Given the description of an element on the screen output the (x, y) to click on. 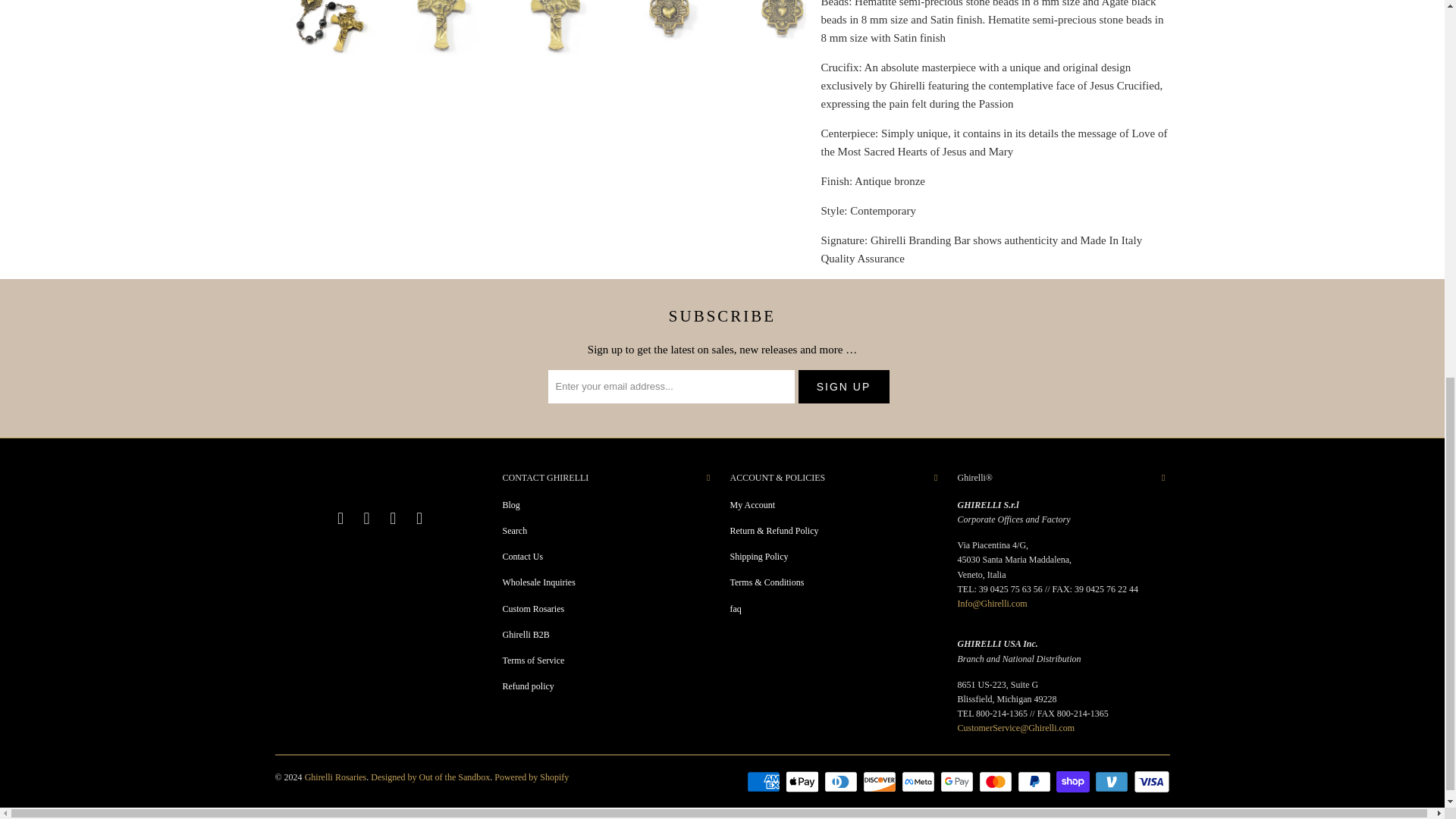
Ghirelli Rosaries on Facebook (341, 518)
Google Pay (958, 781)
Shop Pay (1073, 781)
American Express (764, 781)
Email Ghirelli Rosaries (419, 518)
Mastercard (996, 781)
Ghirelli Rosaries on Instagram (392, 518)
Ghirelli Rosaries on YouTube (366, 518)
Meta Pay (919, 781)
PayPal (1035, 781)
